Given the description of an element on the screen output the (x, y) to click on. 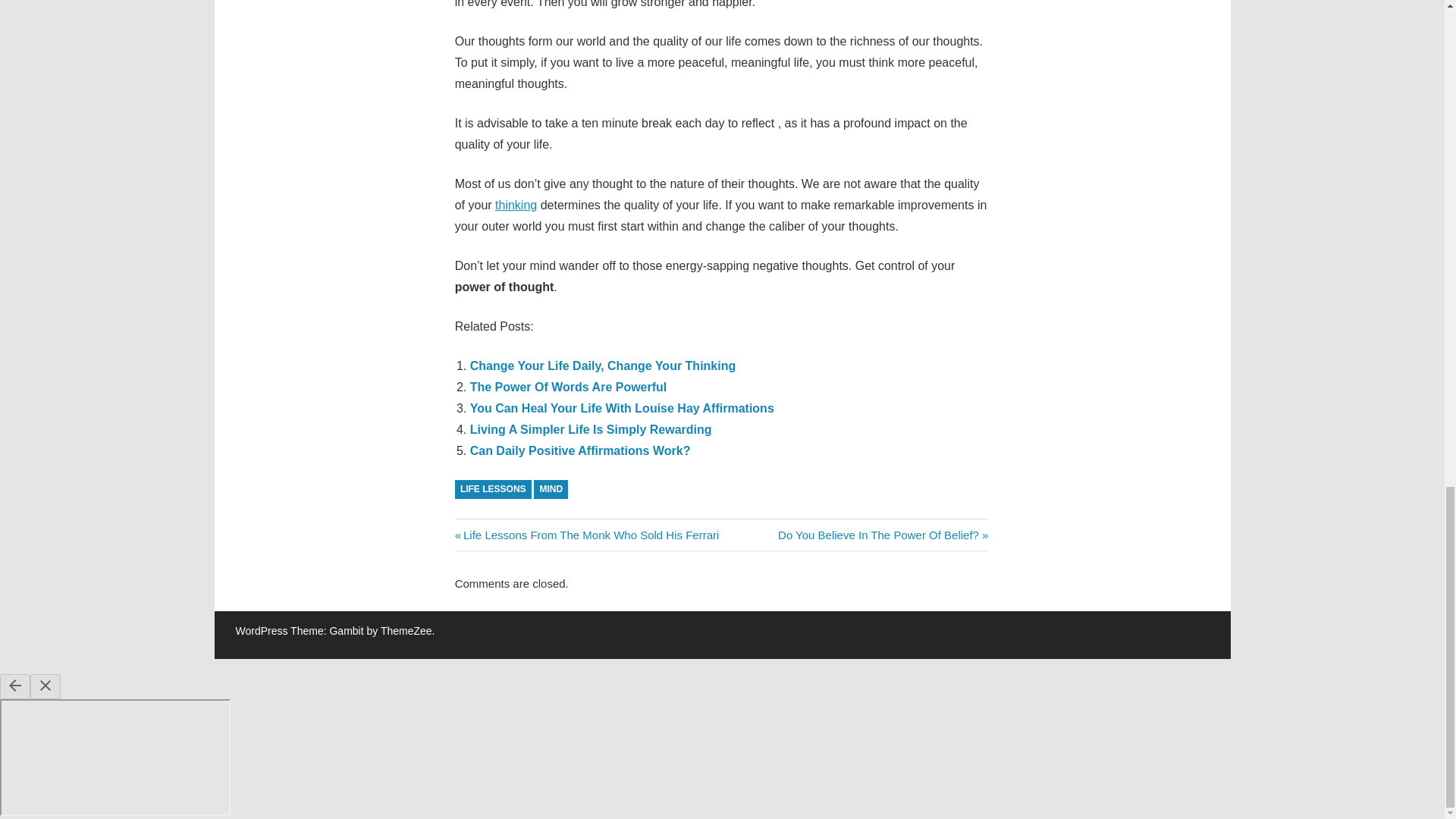
Living A Simpler Life Is Simply Rewarding (590, 429)
Can Daily Positive Affirmations Work? (580, 450)
You Can Heal Your Life With Louise Hay Affirmations (622, 408)
MIND (550, 488)
The Power Of Words Are Powerful (568, 386)
Change Your Life Daily, Change Your Thinking (603, 365)
The Power Of Words Are Powerful (882, 534)
You Can Heal Your Life With Louise Hay Affirmations (568, 386)
